Given the description of an element on the screen output the (x, y) to click on. 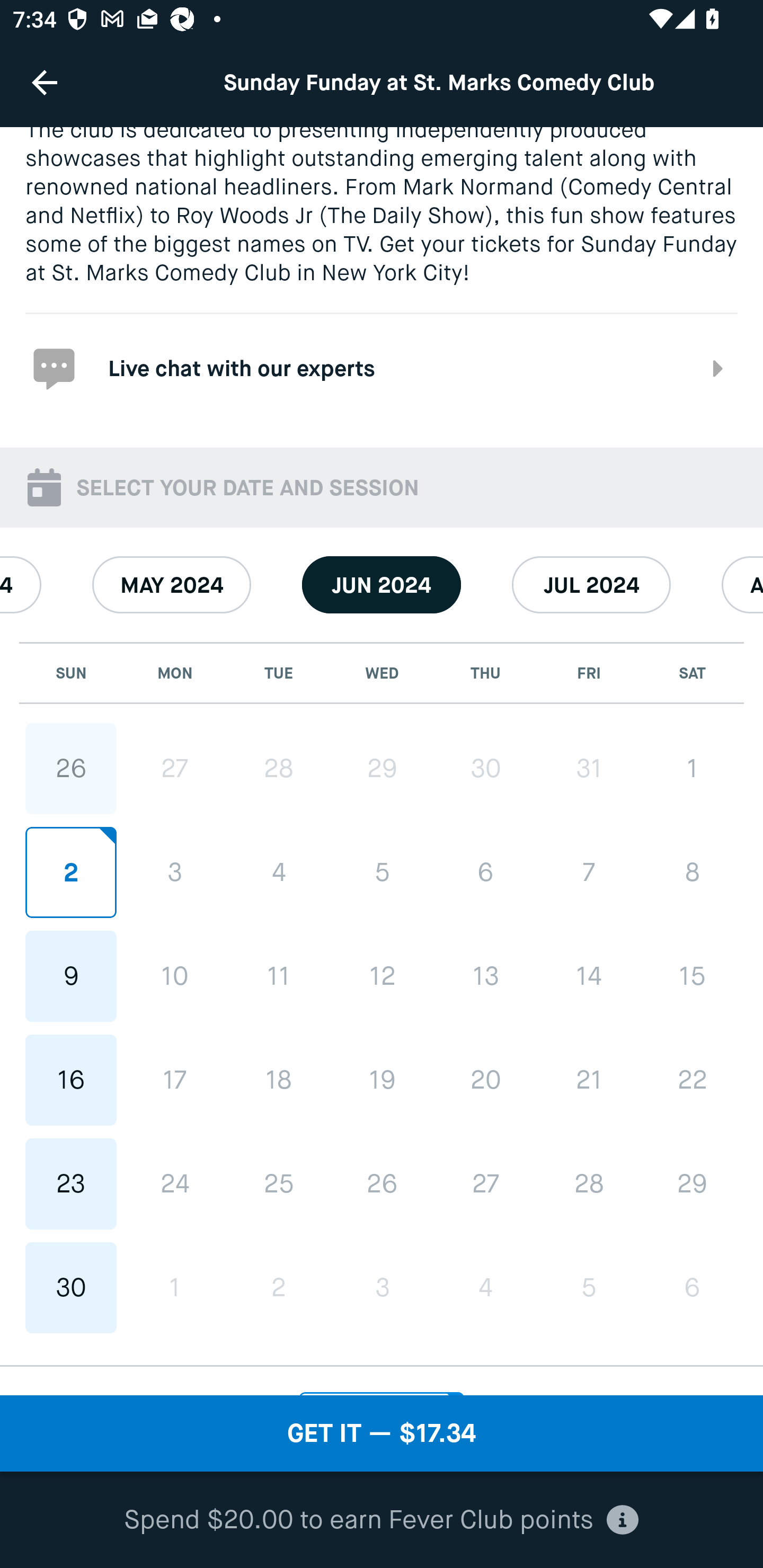
Navigate up (44, 82)
Live chat with our experts (381, 366)
MAY 2024 (171, 584)
JUN 2024 (381, 584)
JUL 2024 (590, 584)
26 (70, 767)
27 (174, 767)
28 (278, 767)
29 (382, 767)
30 (485, 767)
31 (588, 767)
1 (692, 767)
2 (70, 871)
3 (174, 871)
4 (278, 871)
5 (382, 871)
6 (485, 871)
7 (588, 871)
8 (692, 871)
9 (70, 976)
10 (174, 976)
11 (278, 976)
12 (382, 975)
13 (485, 975)
14 (588, 975)
15 (692, 975)
16 (70, 1079)
17 (174, 1079)
18 (278, 1079)
19 (382, 1079)
20 (485, 1079)
21 (588, 1079)
22 (692, 1079)
23 (70, 1183)
24 (174, 1183)
25 (278, 1183)
26 (382, 1183)
27 (485, 1183)
28 (588, 1183)
29 (692, 1183)
30 (70, 1286)
1 (174, 1286)
2 (278, 1286)
3 (382, 1286)
4 (485, 1286)
5 (588, 1286)
6 (692, 1286)
GET IT — $17.34 (381, 1433)
Spend $20.00 to earn Fever Club points (381, 1519)
